Given the description of an element on the screen output the (x, y) to click on. 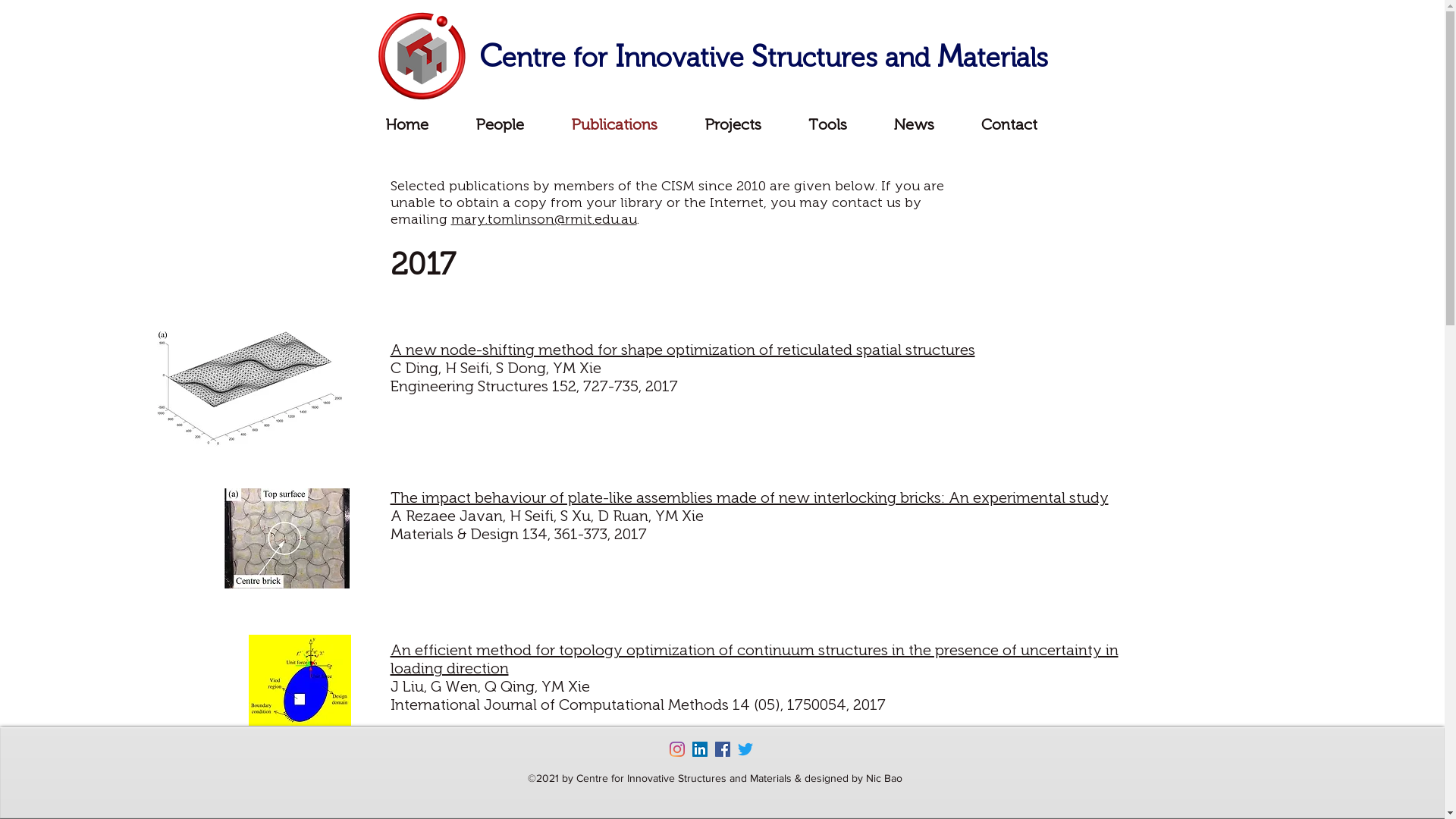
Home Element type: text (406, 124)
. Element type: text (638, 218)
News Element type: text (913, 124)
Contact Element type: text (1008, 124)
High-speed spinning disks on flexible threads Element type: text (547, 799)
Centre for Innovative Structures and Materials Element type: text (763, 57)
mary.tomlinson@rmit.edu.au Element type: text (543, 218)
Projects Element type: text (732, 124)
Tools Element type: text (827, 124)
Publications Element type: text (613, 124)
People Element type: text (499, 124)
